Given the description of an element on the screen output the (x, y) to click on. 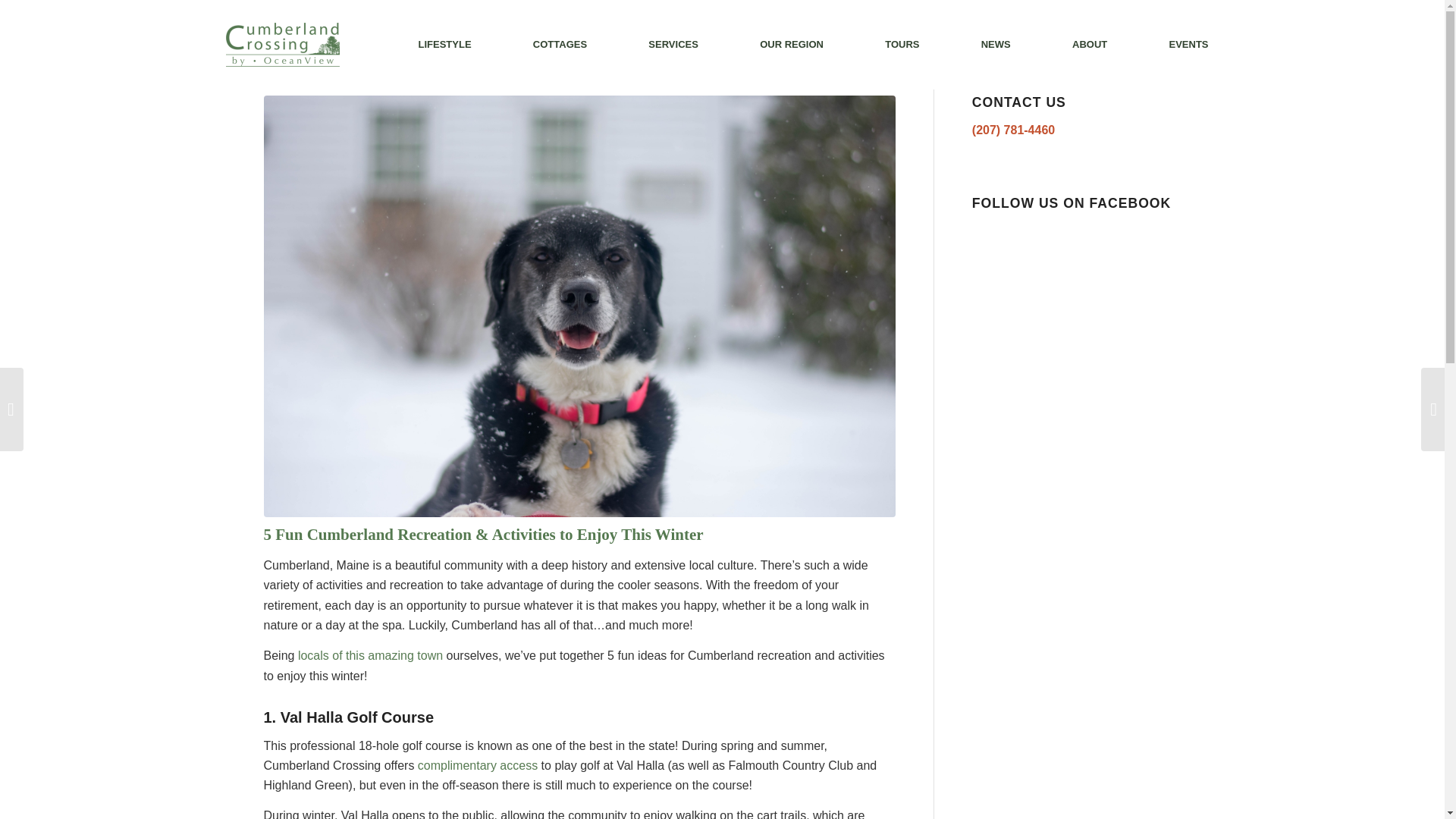
locals of this amazing town (370, 655)
TOURS (902, 44)
complimentary access (477, 765)
ABOUT (1089, 44)
LIFESTYLE (444, 44)
COTTAGES (559, 44)
OUR REGION (791, 44)
EVENTS (1187, 44)
SERVICES (673, 44)
